Given the description of an element on the screen output the (x, y) to click on. 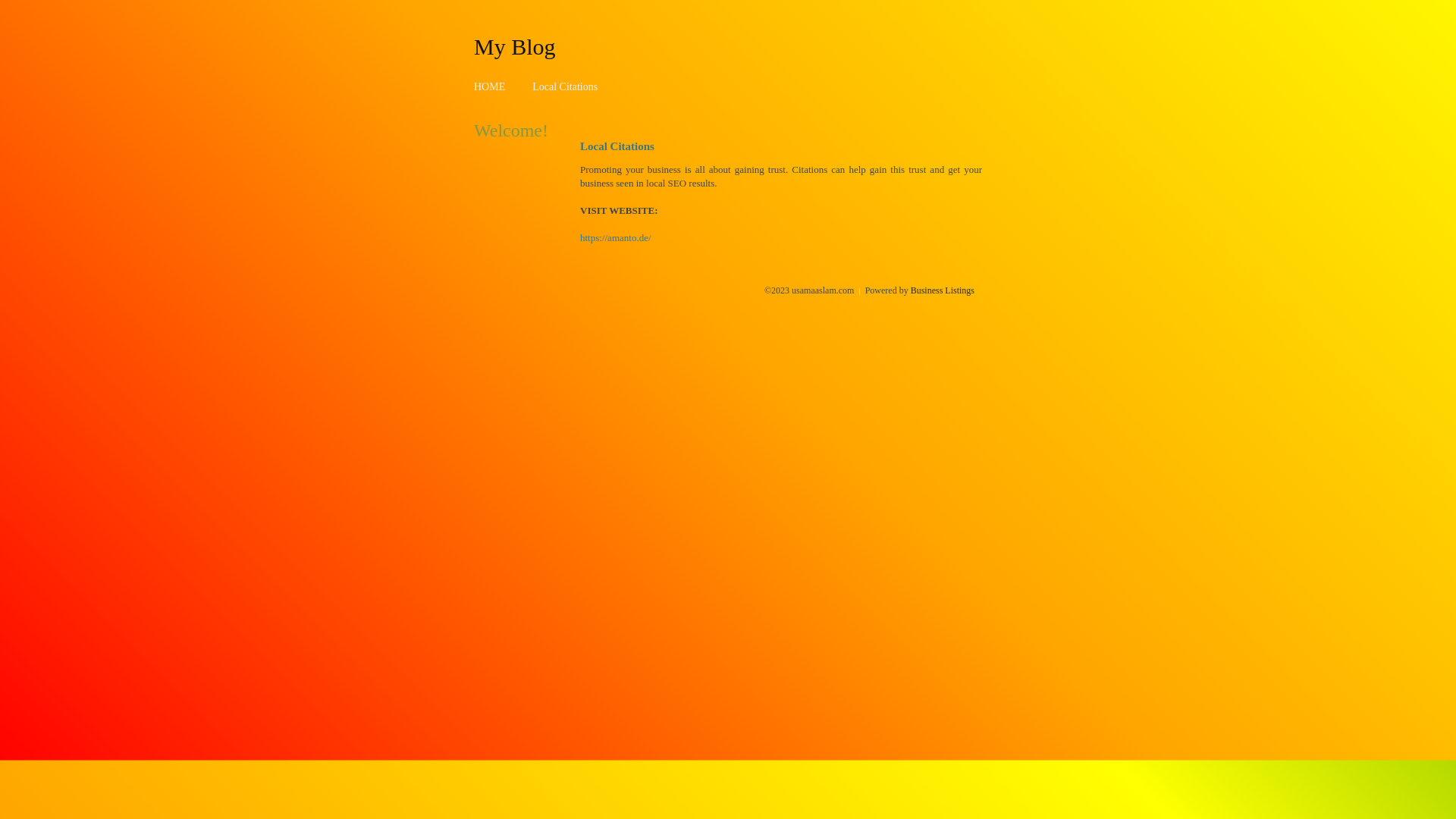
Business Listings Element type: text (942, 290)
HOME Element type: text (489, 86)
Local Citations Element type: text (564, 86)
https://amanto.de/ Element type: text (615, 237)
My Blog Element type: text (514, 46)
